Given the description of an element on the screen output the (x, y) to click on. 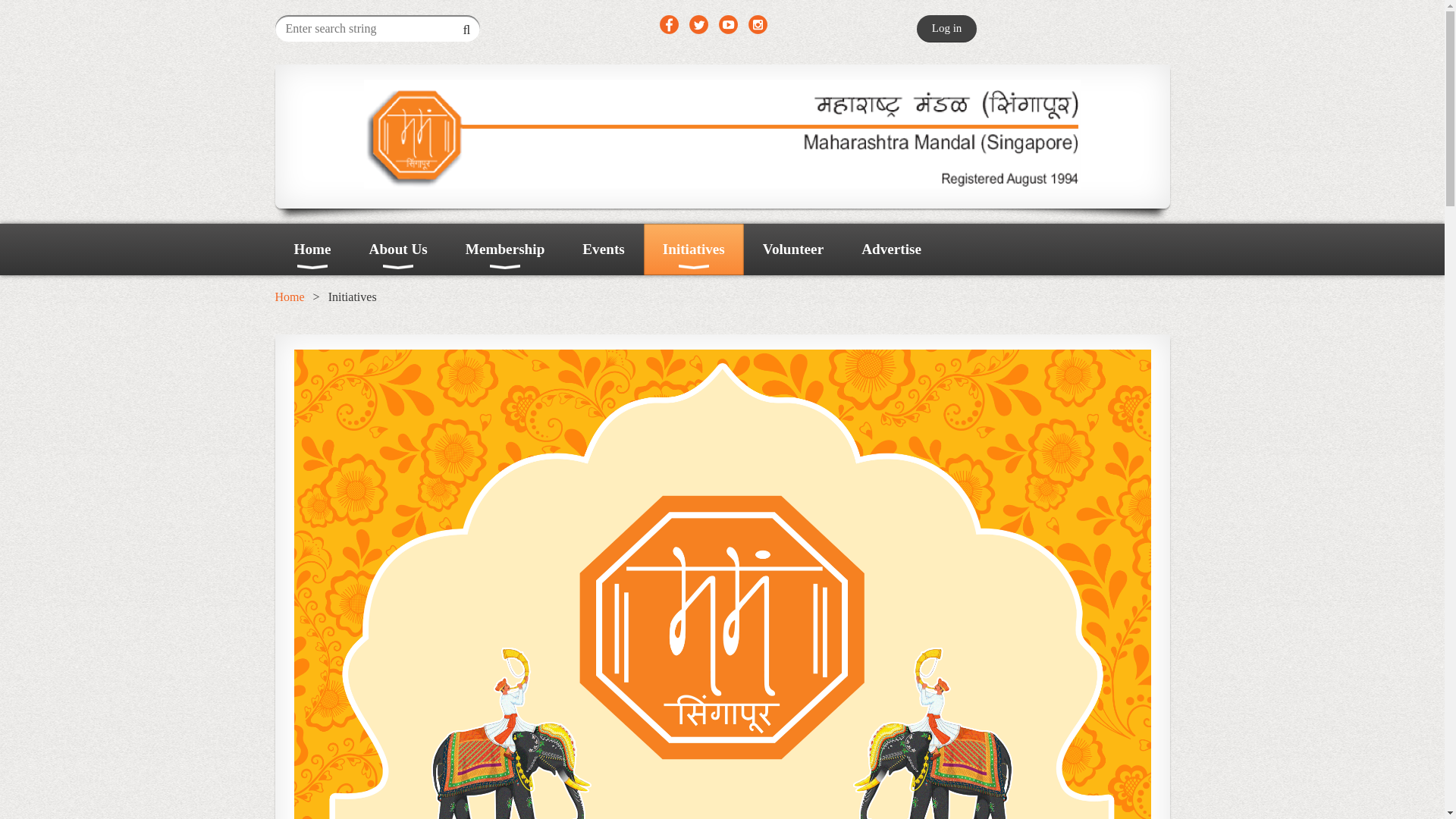
About Us (398, 249)
Home (312, 249)
Membership (504, 249)
About Us (398, 249)
YouTube (728, 24)
Facebook (668, 24)
Log in (946, 28)
Home (312, 249)
Volunteer (793, 249)
Twitter (697, 24)
